Given the description of an element on the screen output the (x, y) to click on. 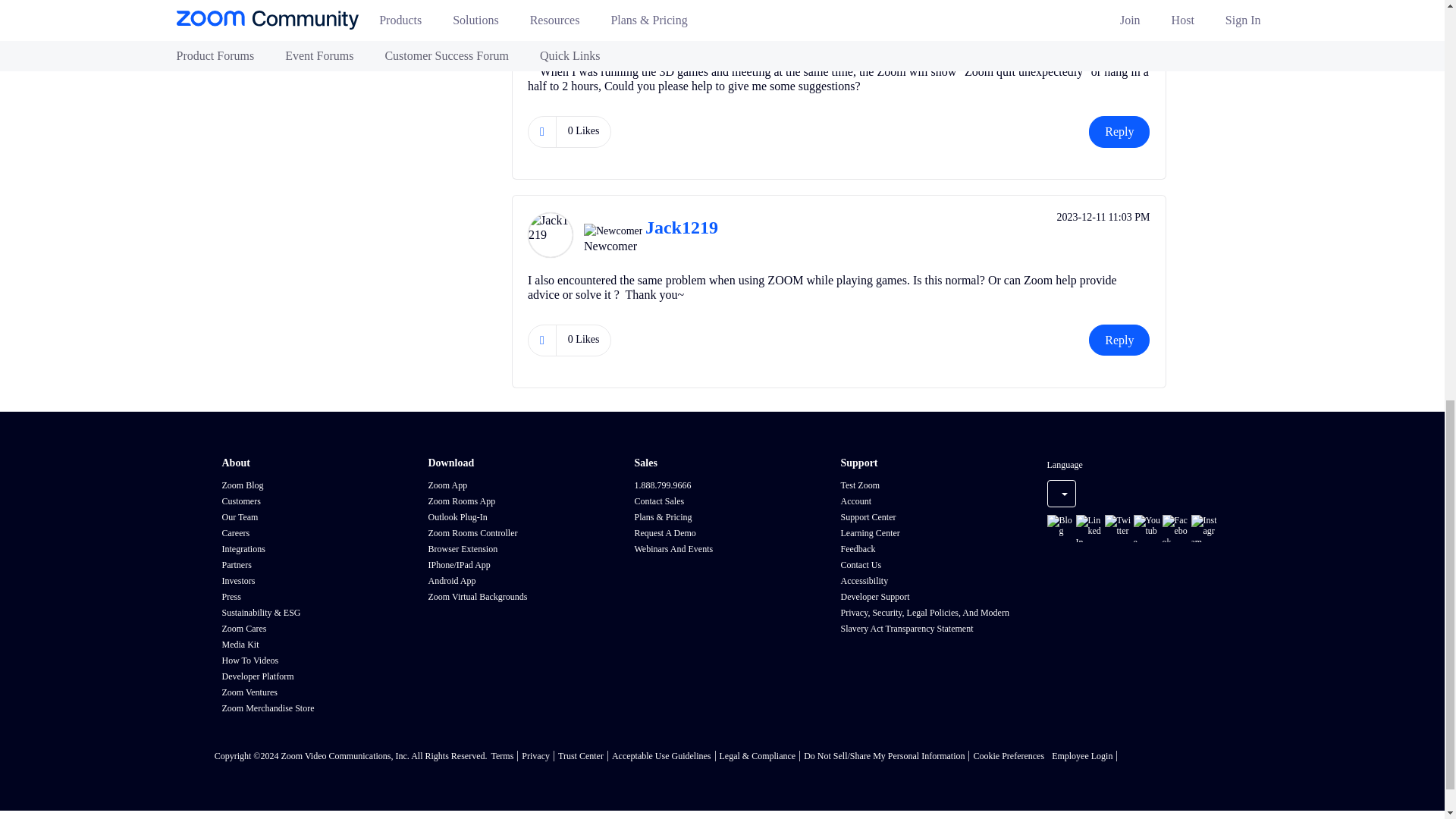
Newcomer (612, 7)
The total number of likes this post has received. (583, 131)
Click here to give likes to this post. (542, 131)
